Given the description of an element on the screen output the (x, y) to click on. 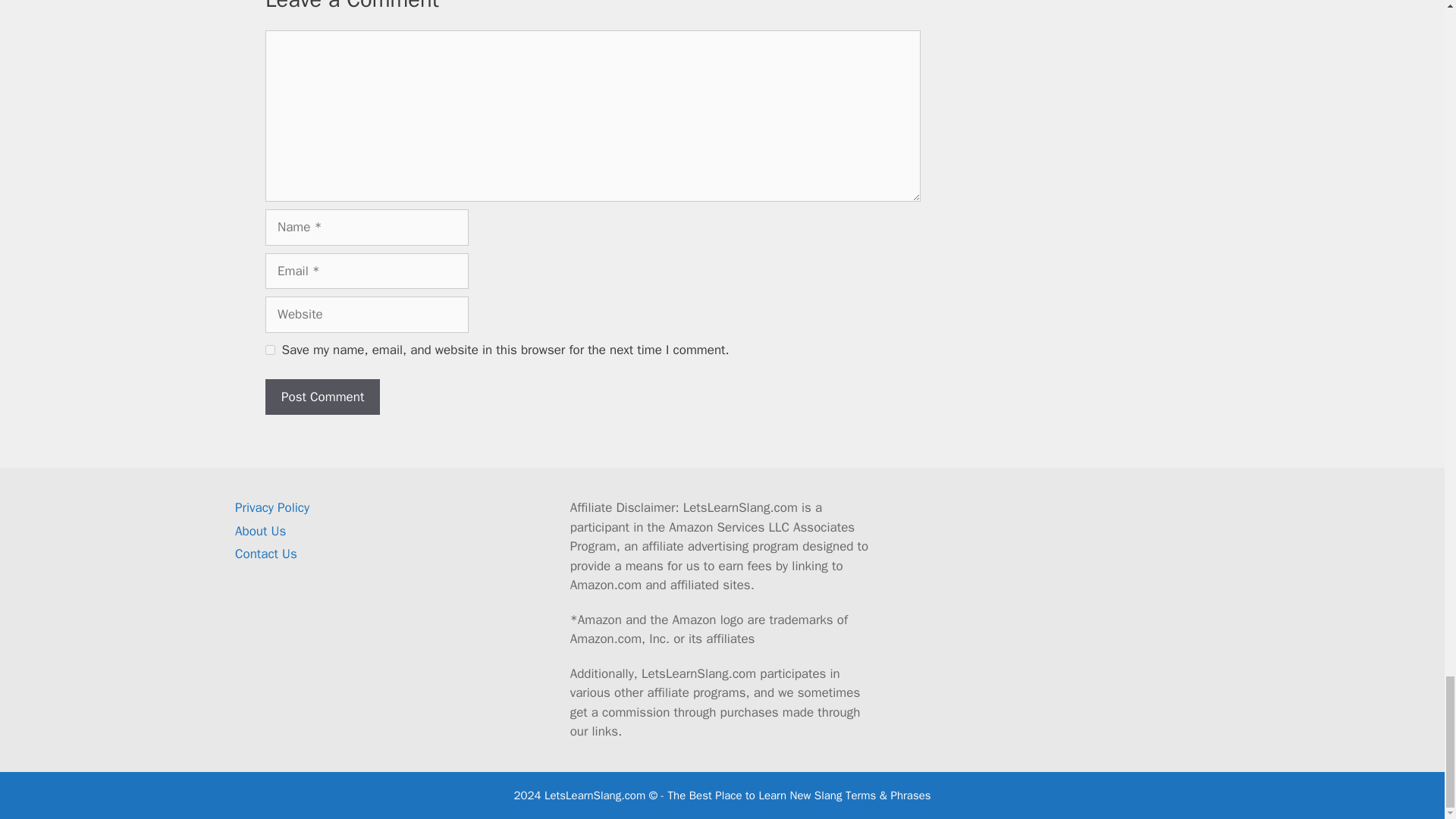
Post Comment (322, 396)
yes (269, 349)
